Given the description of an element on the screen output the (x, y) to click on. 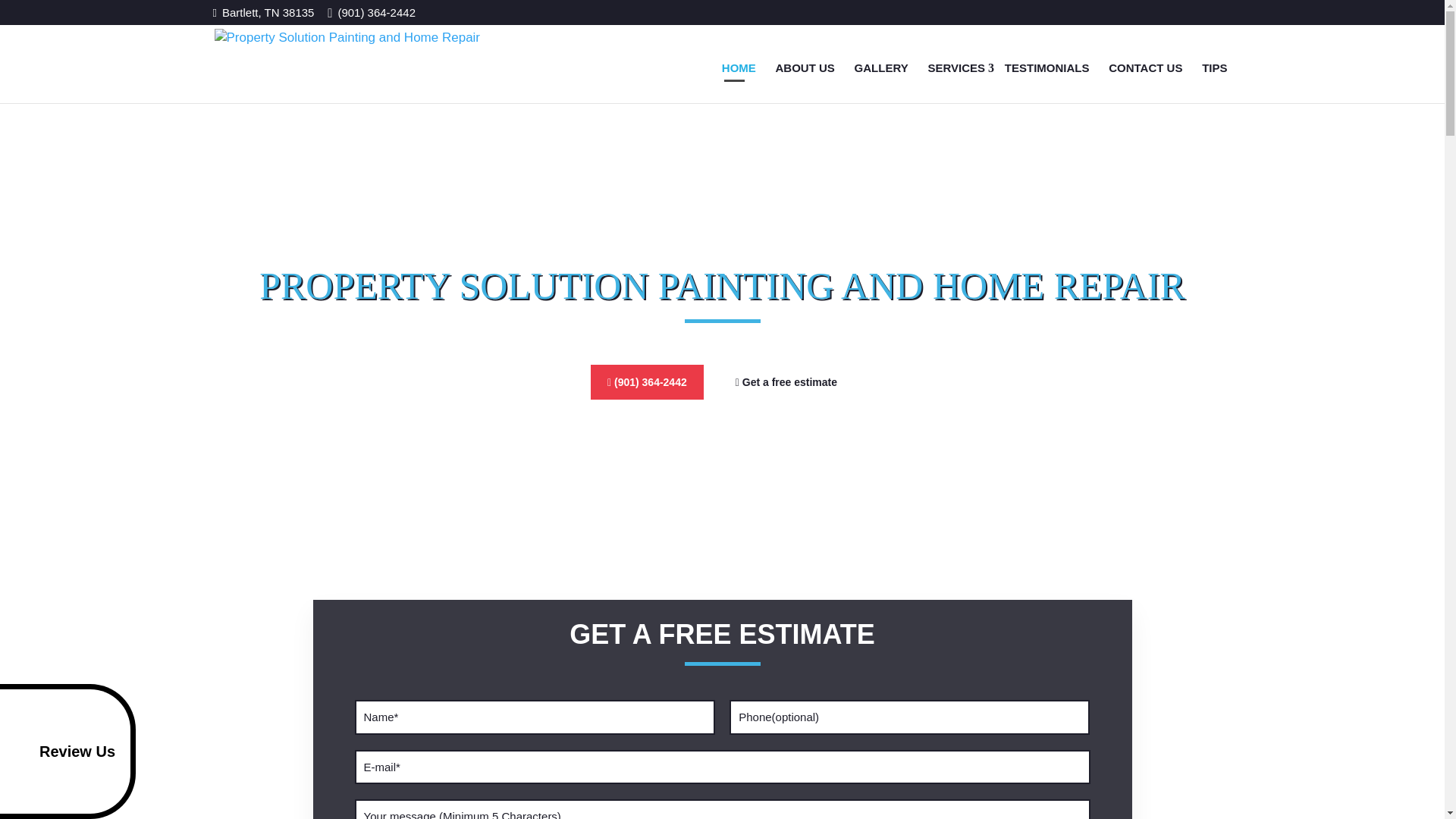
Review Us (67, 751)
Customer Name (534, 716)
TESTIMONIALS (1047, 67)
SERVICES (956, 67)
GALLERY (881, 67)
ABOUT US (805, 67)
Phone (909, 716)
Customer E-mail (722, 766)
Message (722, 809)
CONTACT US (1145, 67)
